Given the description of an element on the screen output the (x, y) to click on. 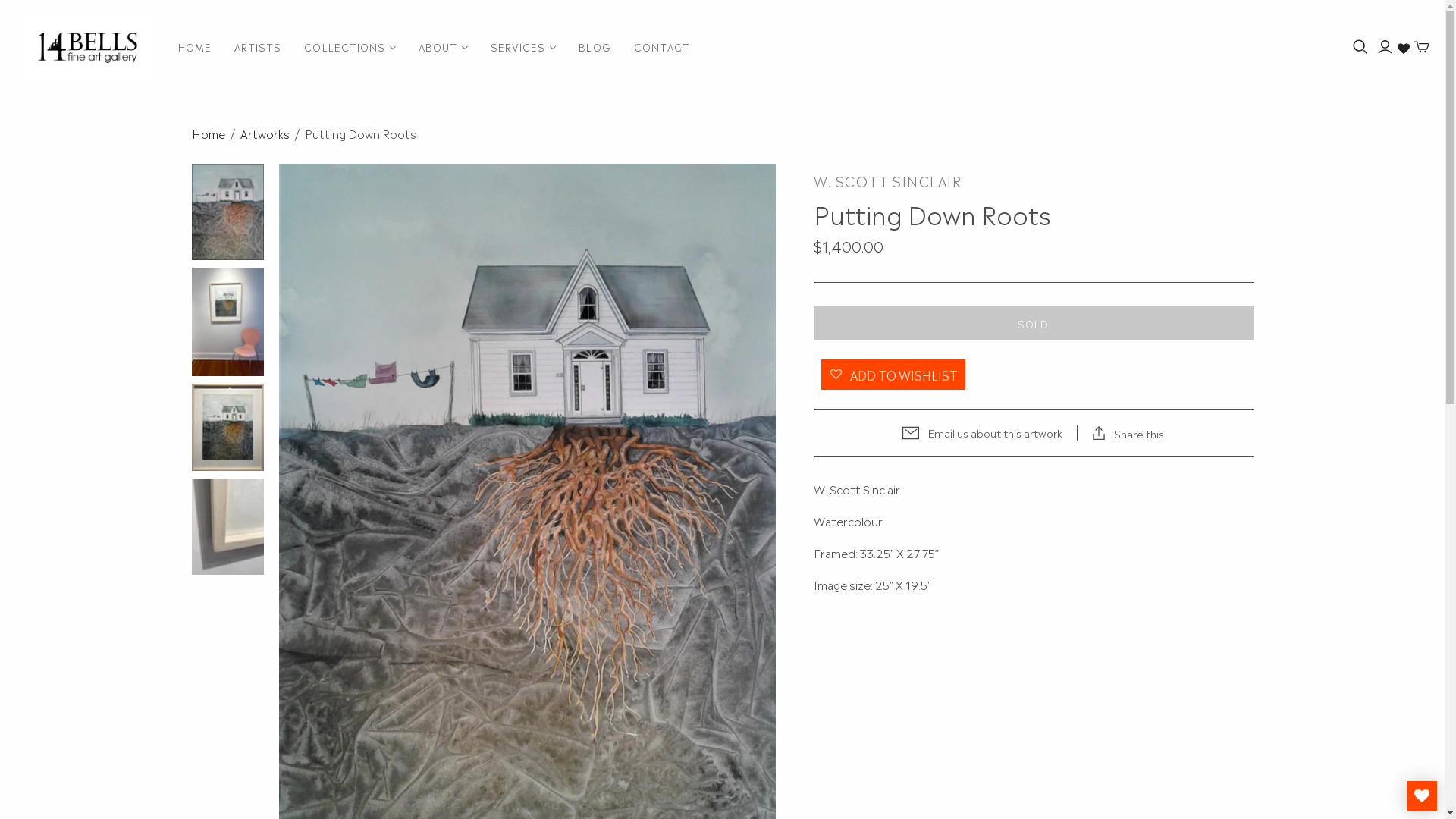
ABOUT Element type: text (443, 46)
ADD TO WISHLIST Element type: text (892, 374)
SERVICES Element type: text (523, 46)
Email us about this artwork Element type: text (981, 432)
BLOG Element type: text (594, 46)
MY WISHLIST Element type: text (1421, 796)
CONTACT Element type: text (661, 46)
Share this Element type: text (1128, 432)
SOLD Element type: text (1032, 323)
ARTISTS Element type: text (257, 46)
HOME Element type: text (194, 46)
Artworks Element type: text (263, 132)
COLLECTIONS Element type: text (349, 46)
Home Element type: text (207, 132)
